Given the description of an element on the screen output the (x, y) to click on. 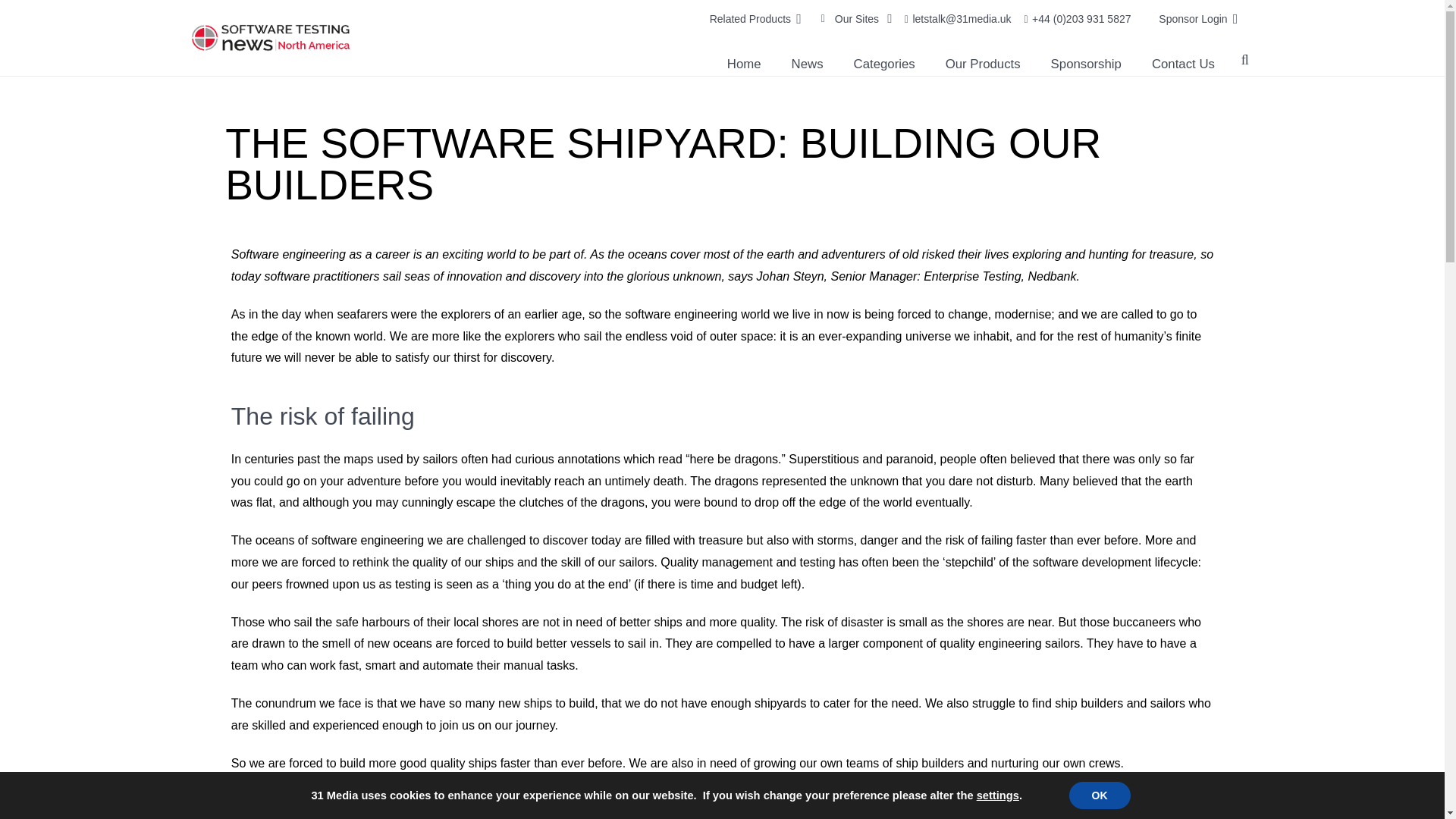
Our Products (982, 64)
News (807, 64)
Sponsorship (1086, 64)
Home (743, 64)
Categories (884, 64)
Sponsor Login (1197, 18)
Our Sites (854, 18)
Related Products (755, 18)
